Given the description of an element on the screen output the (x, y) to click on. 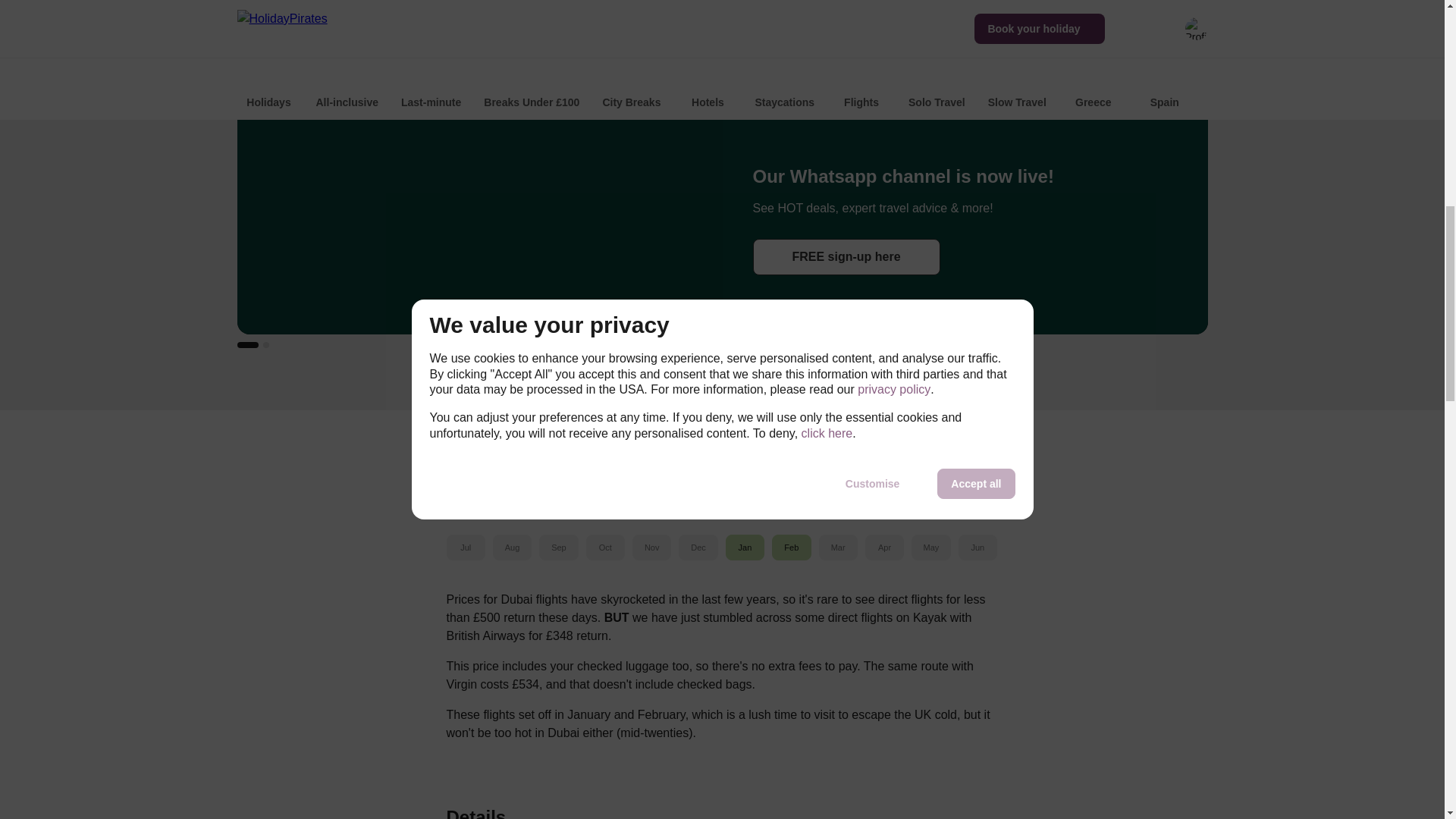
FREE sign-up here (845, 257)
